Given the description of an element on the screen output the (x, y) to click on. 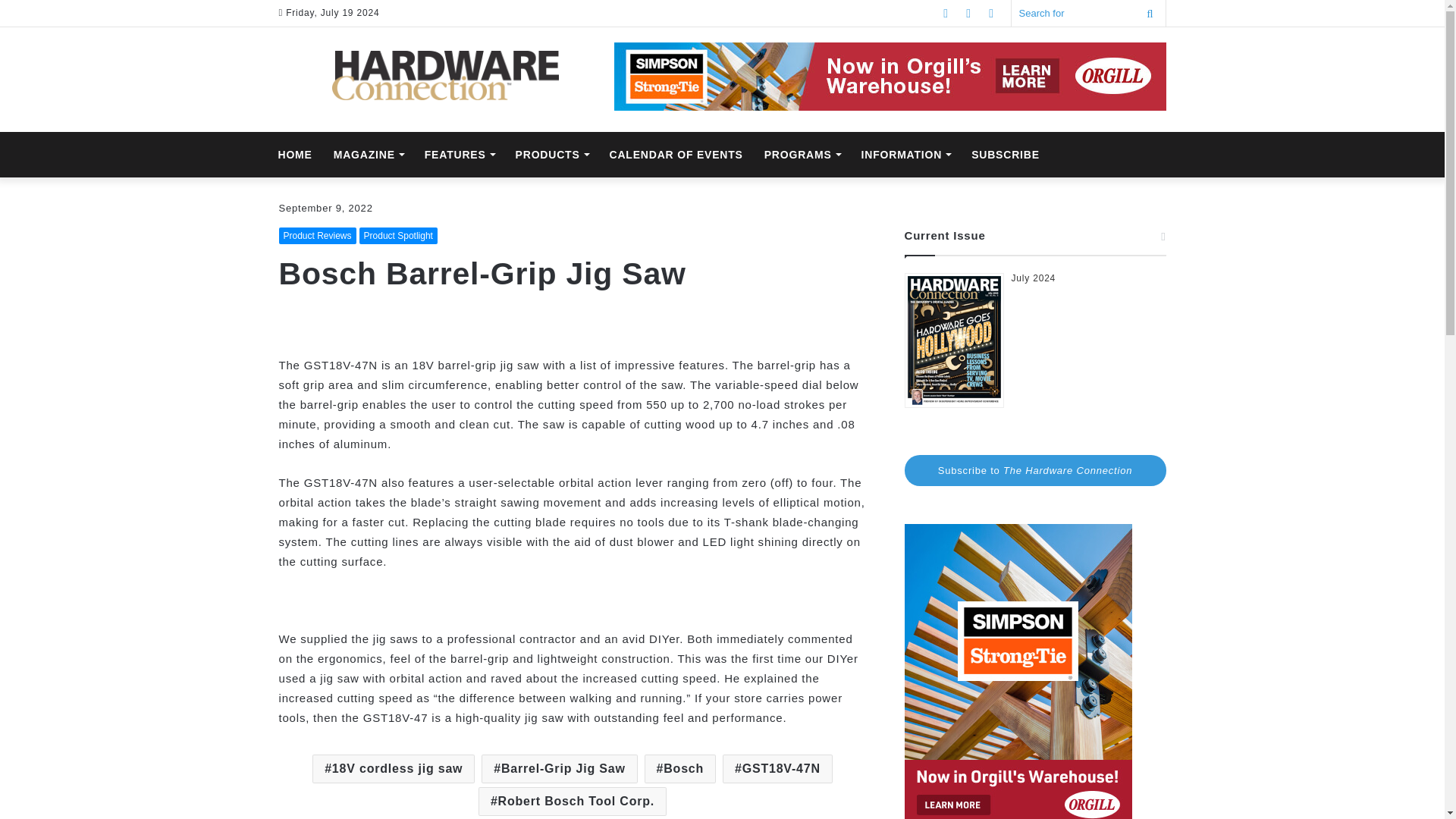
Search for (1088, 13)
CALENDAR OF EVENTS (676, 154)
FEATURES (459, 154)
Product Spotlight (398, 235)
PROGRAMS (802, 154)
Product Reviews (317, 235)
MAGAZINE (368, 154)
Search for (1149, 13)
HOME (293, 154)
SUBSCRIBE (1004, 154)
The Hardware Connection (445, 75)
PRODUCTS (551, 154)
INFORMATION (905, 154)
